Given the description of an element on the screen output the (x, y) to click on. 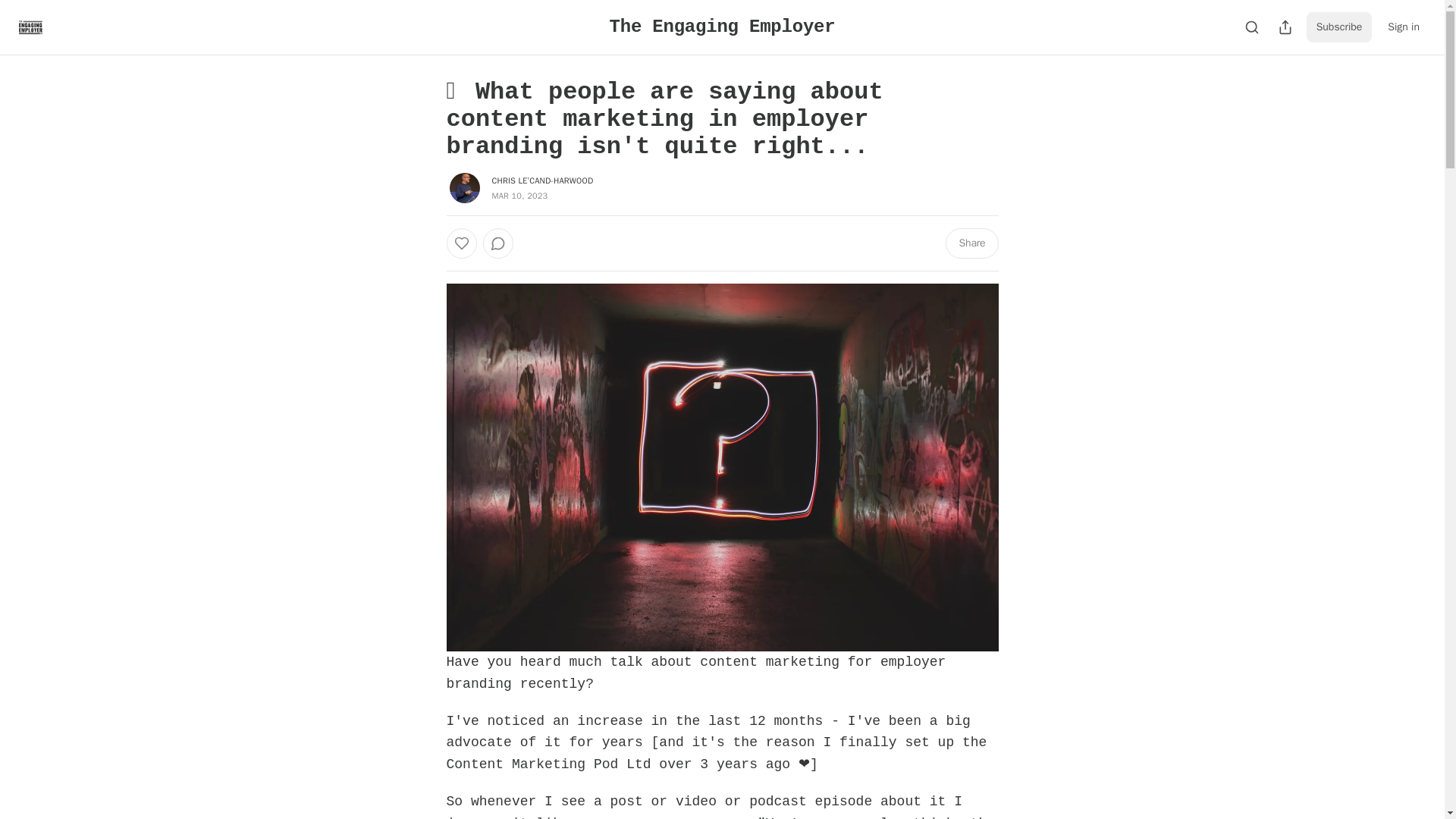
Share (970, 243)
Subscribe (1339, 27)
The Engaging Employer (722, 26)
Sign in (1403, 27)
